Given the description of an element on the screen output the (x, y) to click on. 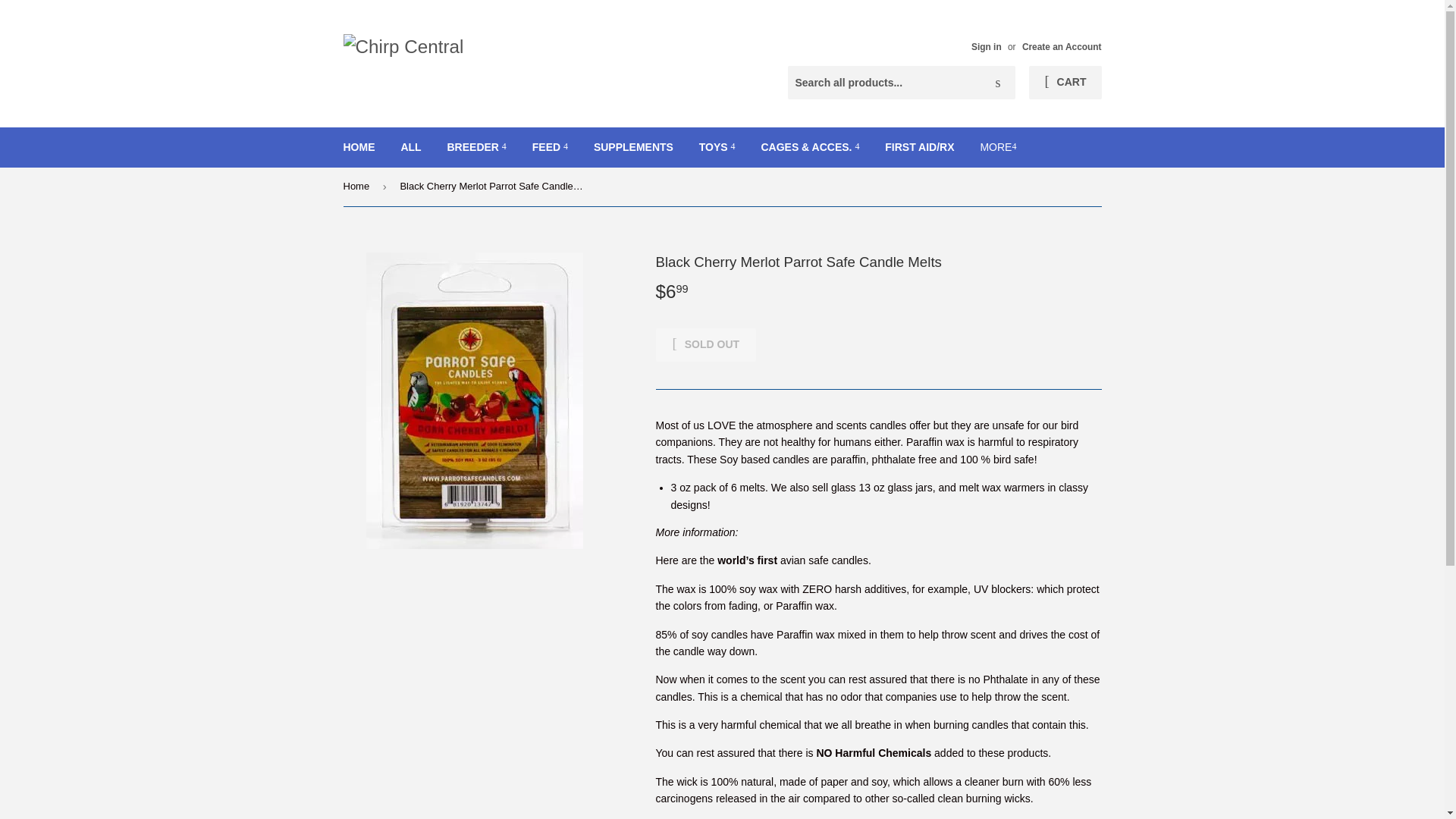
Sign in (986, 46)
Search (997, 83)
ALL (410, 147)
CART (1064, 82)
Create an Account (1062, 46)
HOME (359, 147)
